Given the description of an element on the screen output the (x, y) to click on. 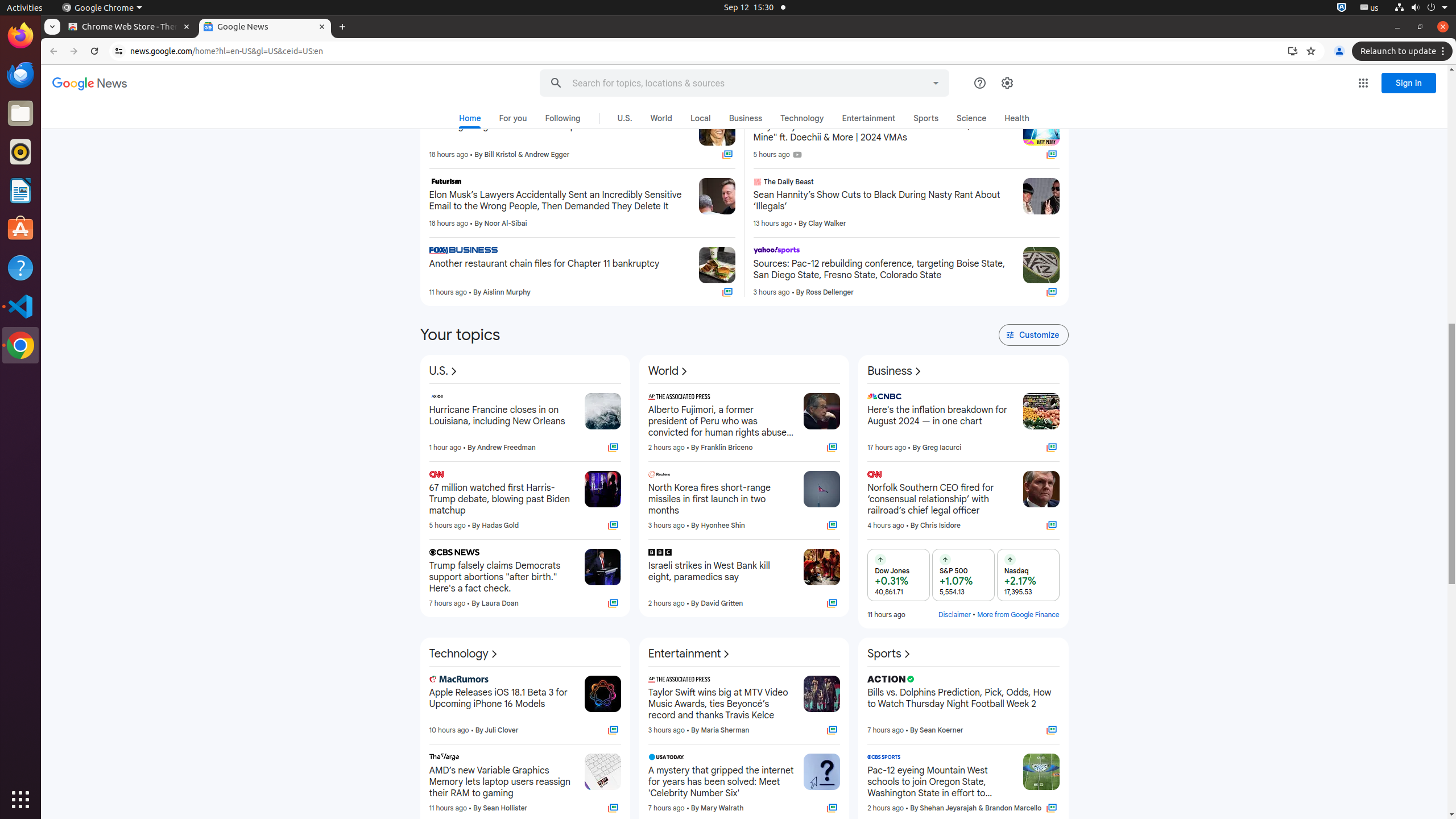
Technology Element type: link (463, 653)
Home Element type: menu-item (469, 120)
Local Element type: menu-item (699, 118)
Sports Element type: menu-item (926, 118)
More - Taylor Swift wins big at MTV Video Music Awards, ties Beyoncé’s record and thanks Travis Kelce Element type: push-button (791, 680)
